Given the description of an element on the screen output the (x, y) to click on. 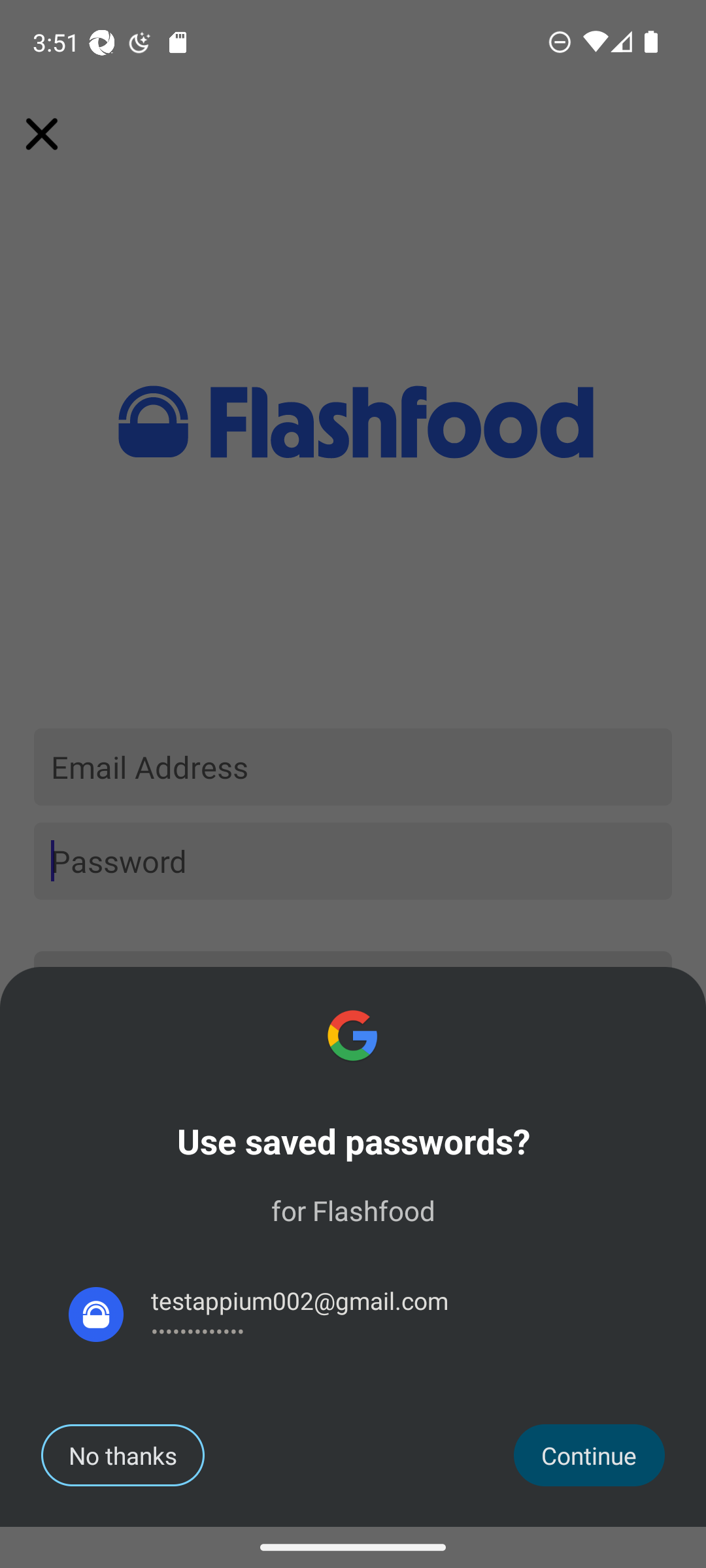
Flashfood testappium002@gmail.com ••••••••••••• (352, 1314)
No thanks (122, 1454)
Continue (589, 1454)
